Given the description of an element on the screen output the (x, y) to click on. 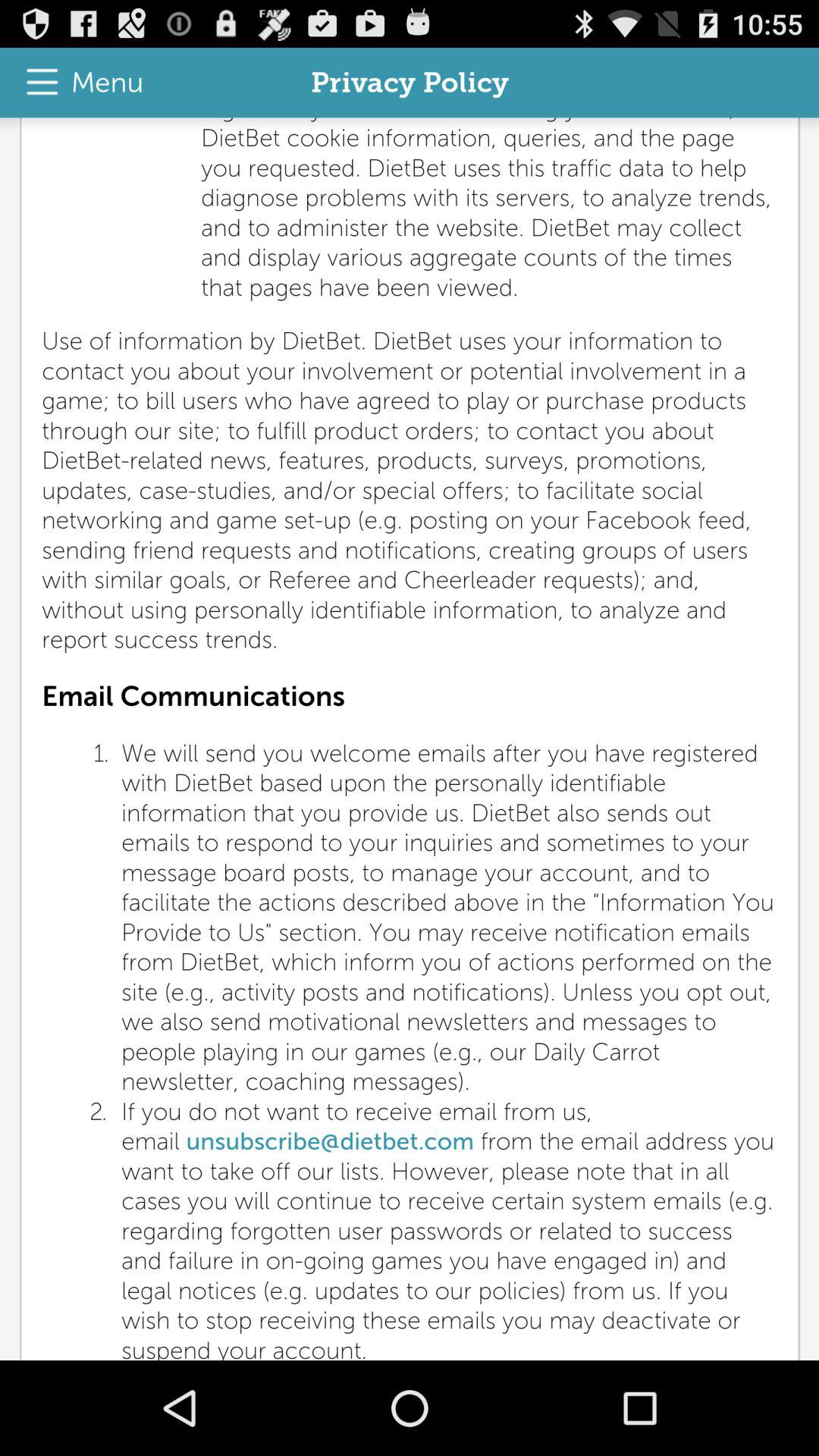
choose app to the left of the privacy policy (76, 82)
